Given the description of an element on the screen output the (x, y) to click on. 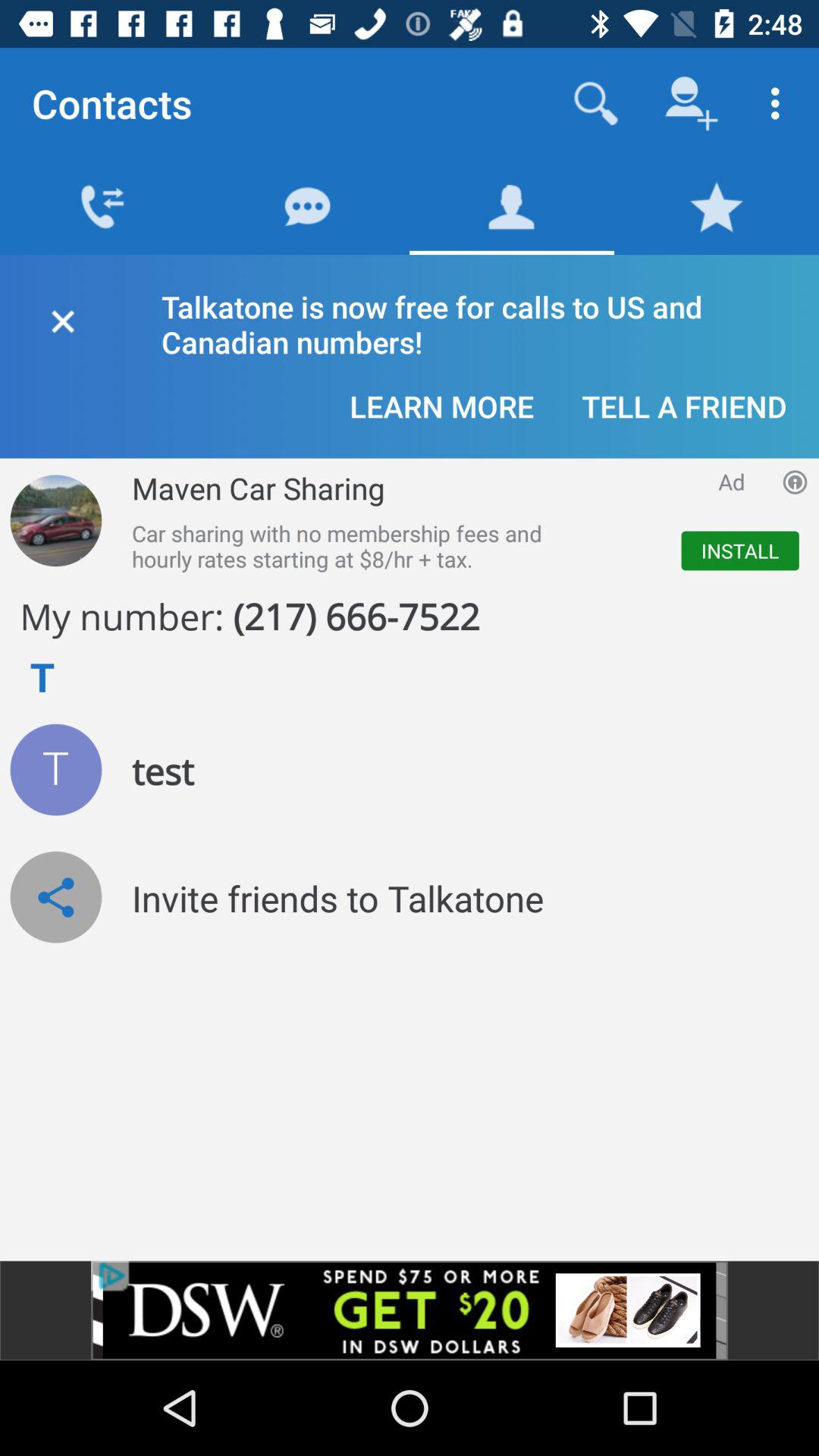
open picture of vehicle (55, 520)
